Given the description of an element on the screen output the (x, y) to click on. 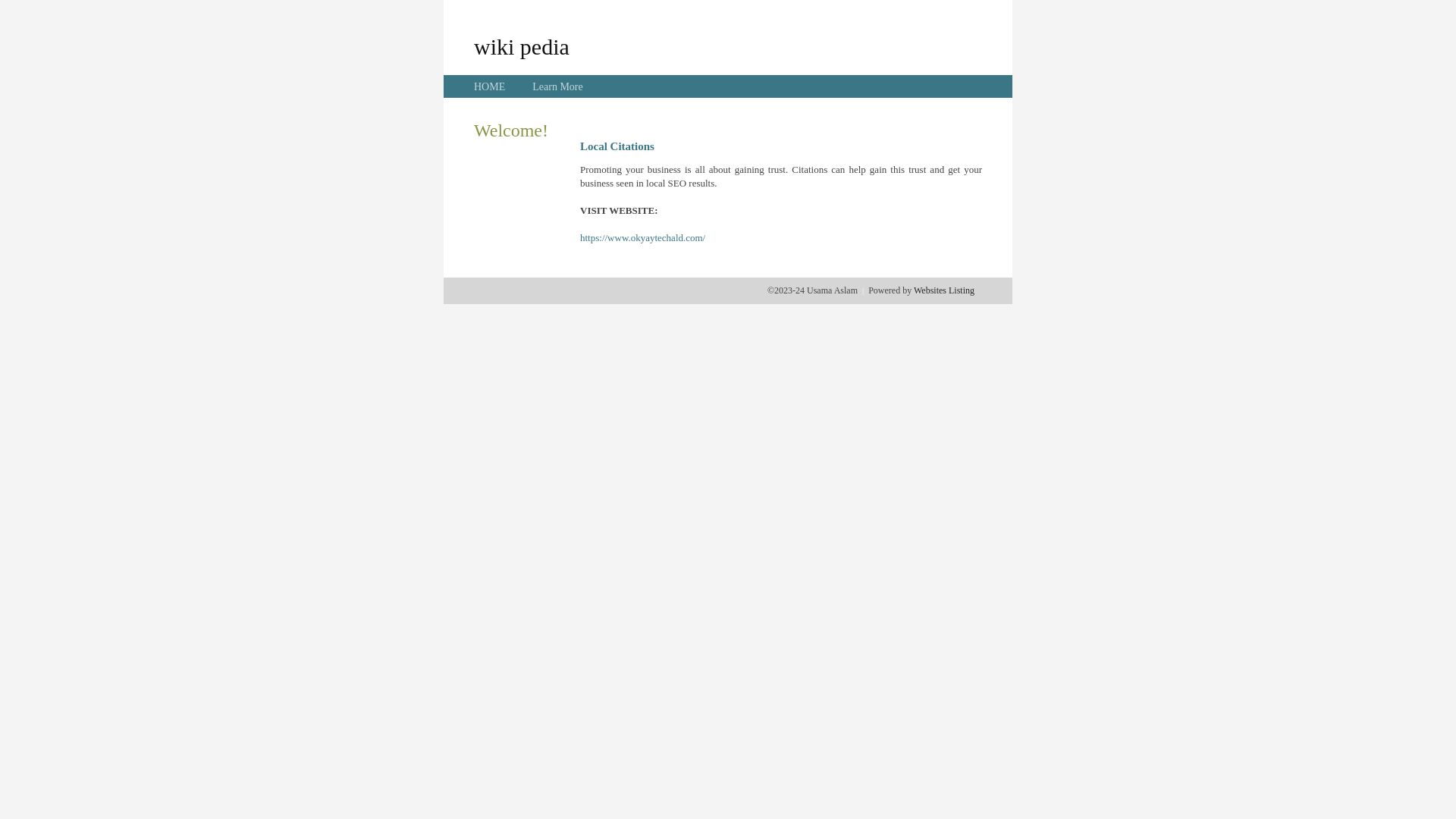
HOME Element type: text (489, 86)
wiki pedia Element type: text (521, 46)
Learn More Element type: text (557, 86)
https://www.okyaytechald.com/ Element type: text (642, 237)
Websites Listing Element type: text (943, 290)
